Given the description of an element on the screen output the (x, y) to click on. 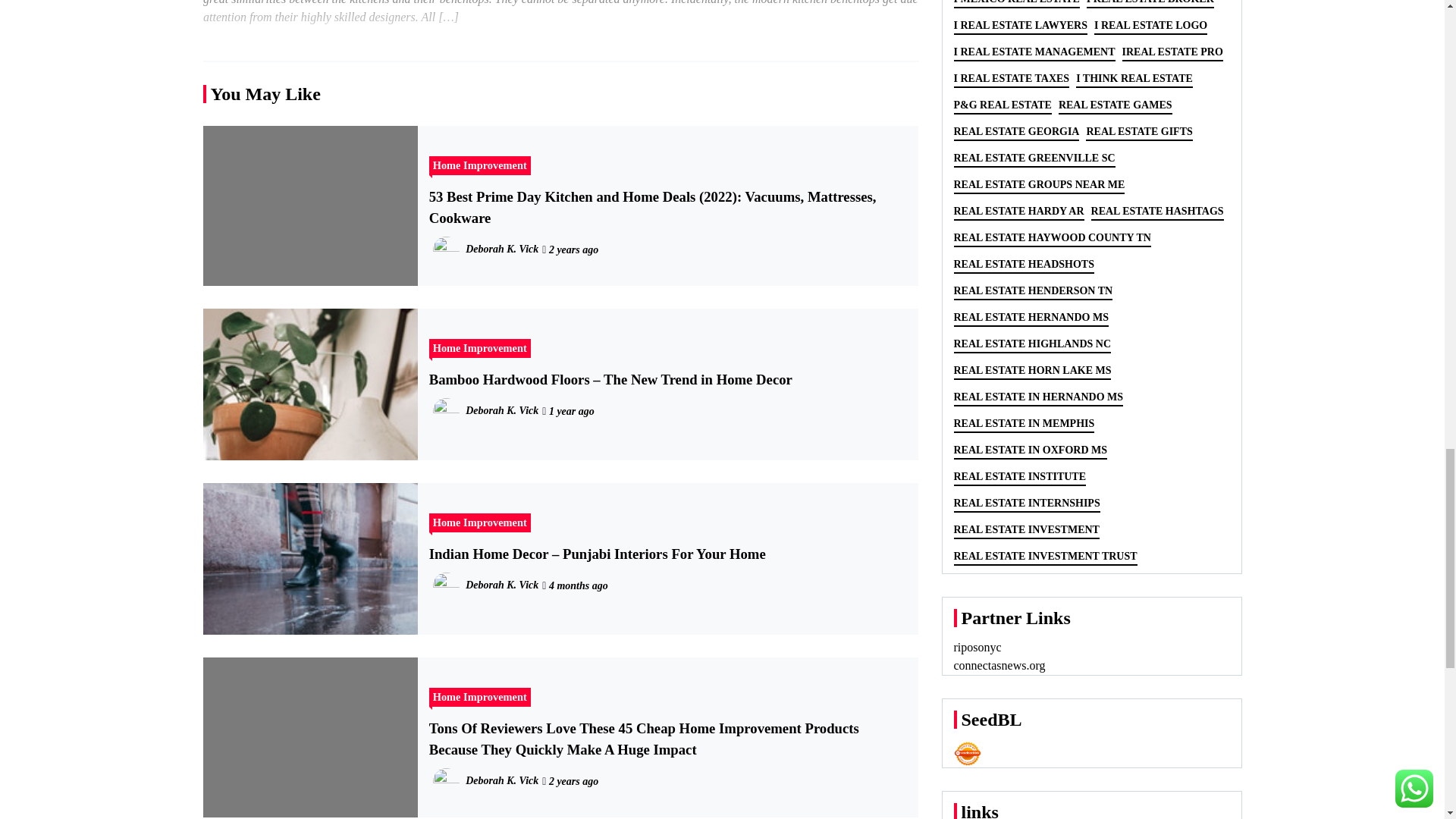
Seedbacklink (967, 753)
